Given the description of an element on the screen output the (x, y) to click on. 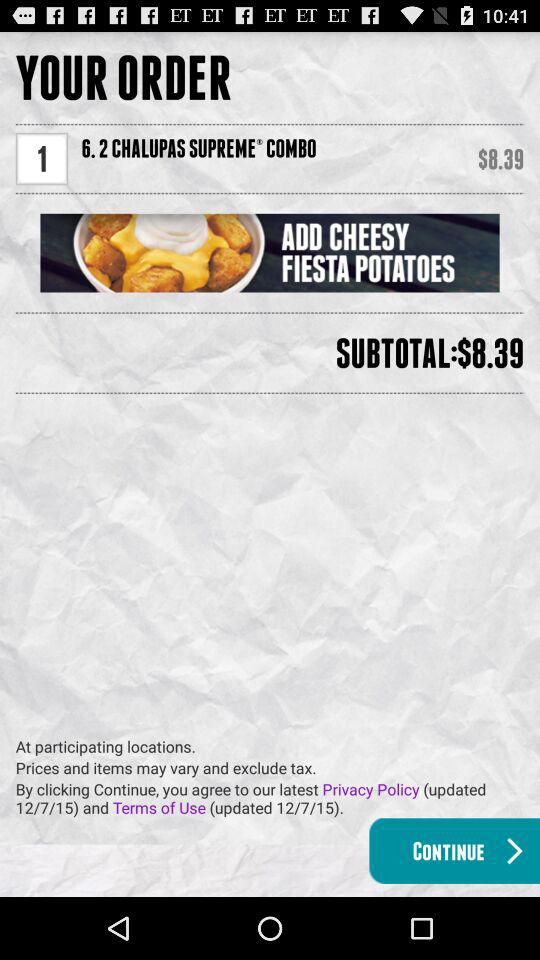
tap 1 (41, 158)
